Given the description of an element on the screen output the (x, y) to click on. 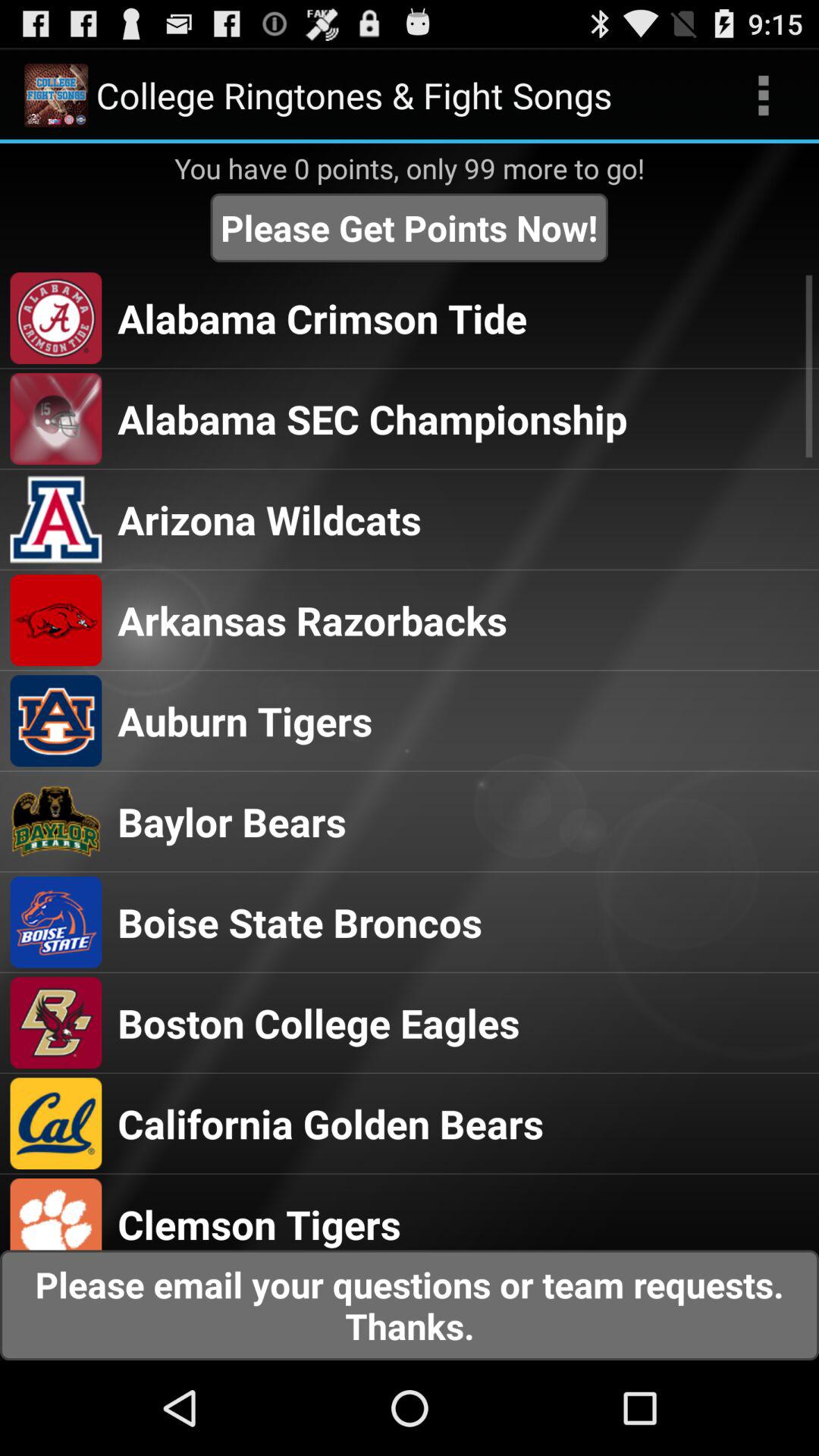
click the item below the alabama sec championship item (269, 519)
